Given the description of an element on the screen output the (x, y) to click on. 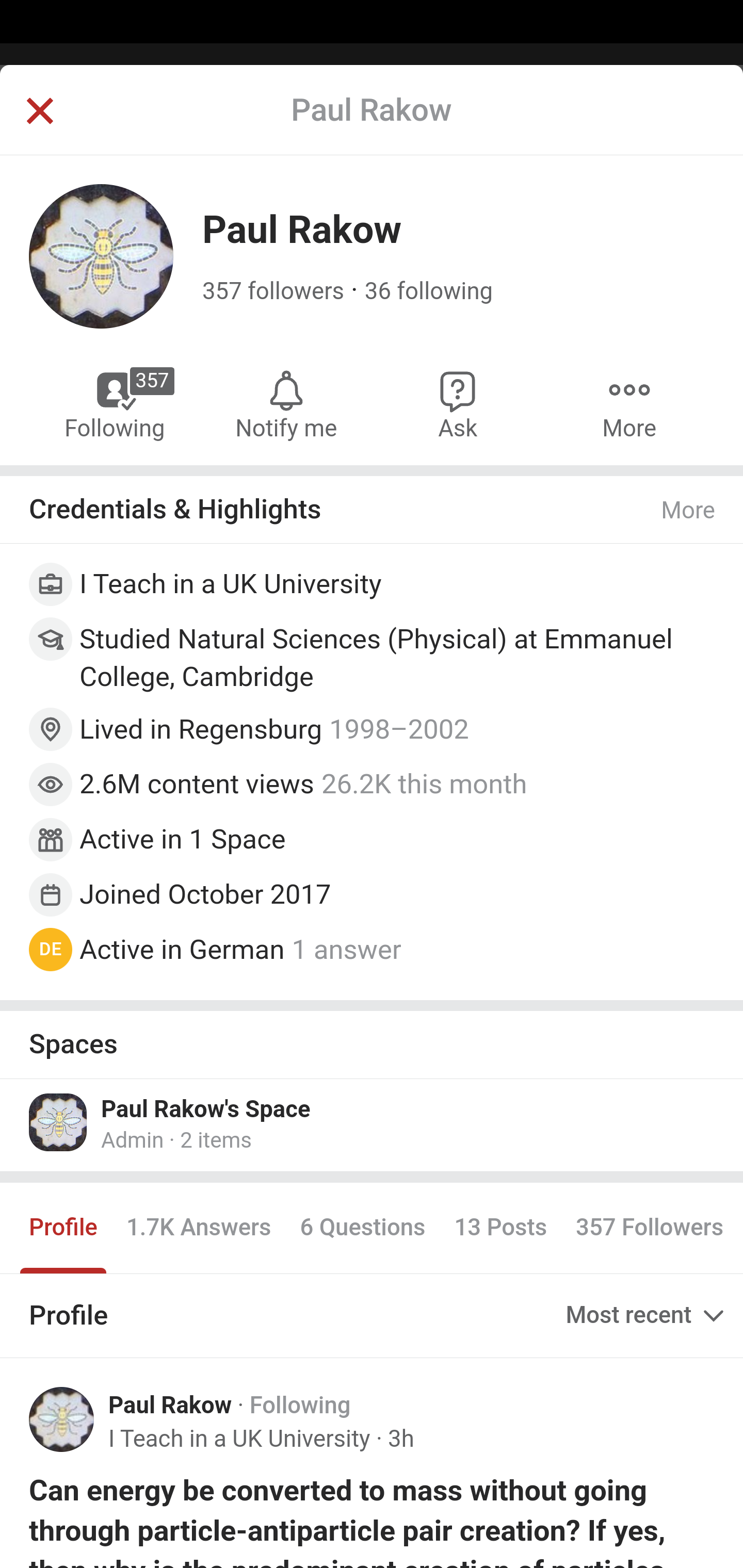
Me Home Search Add (371, 125)
 (39, 112)
357 followers (273, 291)
36 following (428, 291)
Following Paul Rakow 357 Following (115, 404)
Notify me (285, 404)
Ask (458, 404)
More (628, 404)
More (688, 510)
Add employment credential (372, 587)
Active in German Active in  German (182, 948)
Icon for Paul Rakow's Space (58, 1121)
Paul Rakow's Space (206, 1108)
Profile (63, 1227)
1.7K Answers (197, 1227)
6 Questions (362, 1227)
13 Posts (500, 1227)
357 Followers (648, 1227)
Most recent (647, 1315)
Profile photo for Paul Rakow (61, 1419)
Paul Rakow (170, 1405)
Following (300, 1405)
3h 3 h (400, 1439)
